Given the description of an element on the screen output the (x, y) to click on. 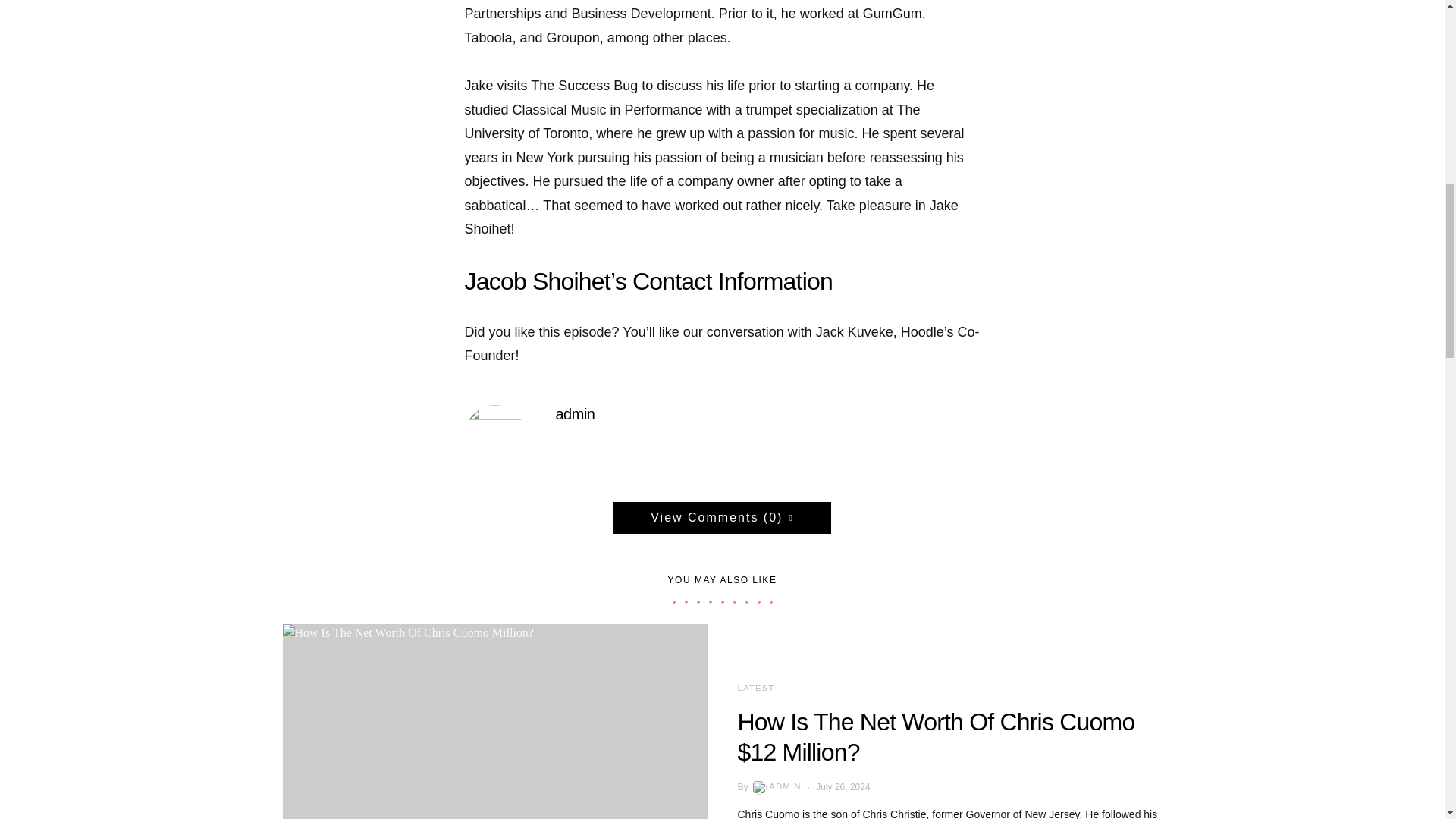
How Is The Net Worth Of Chris Cuomo  Million? (494, 721)
View all posts by admin (775, 786)
admin (574, 412)
LATEST (755, 686)
ADMIN (775, 786)
